Given the description of an element on the screen output the (x, y) to click on. 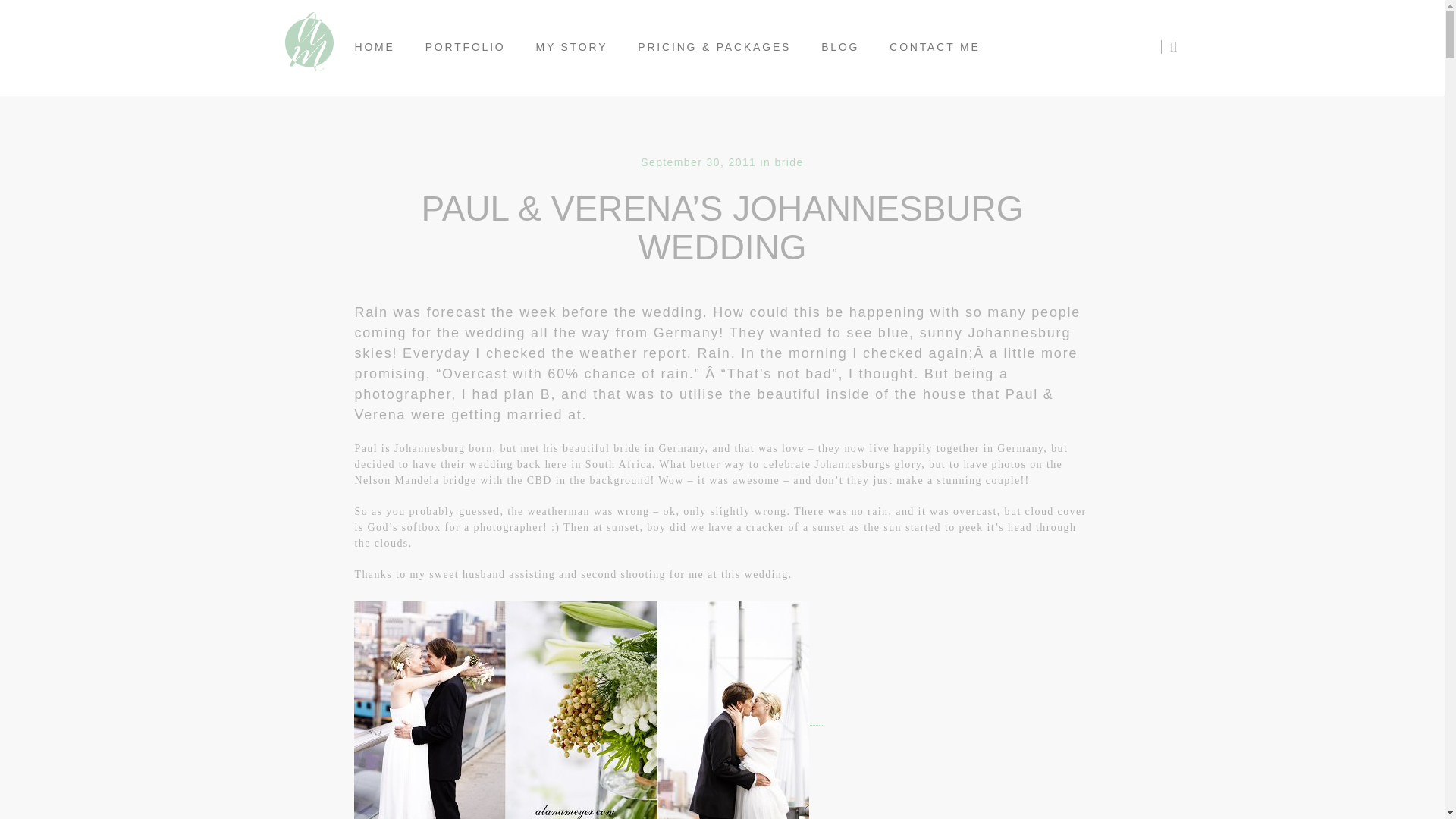
My Story (572, 47)
Portfolio (465, 47)
Contact Me (934, 47)
MY STORY (572, 47)
PORTFOLIO (465, 47)
CONTACT ME (934, 47)
first (581, 710)
